Given the description of an element on the screen output the (x, y) to click on. 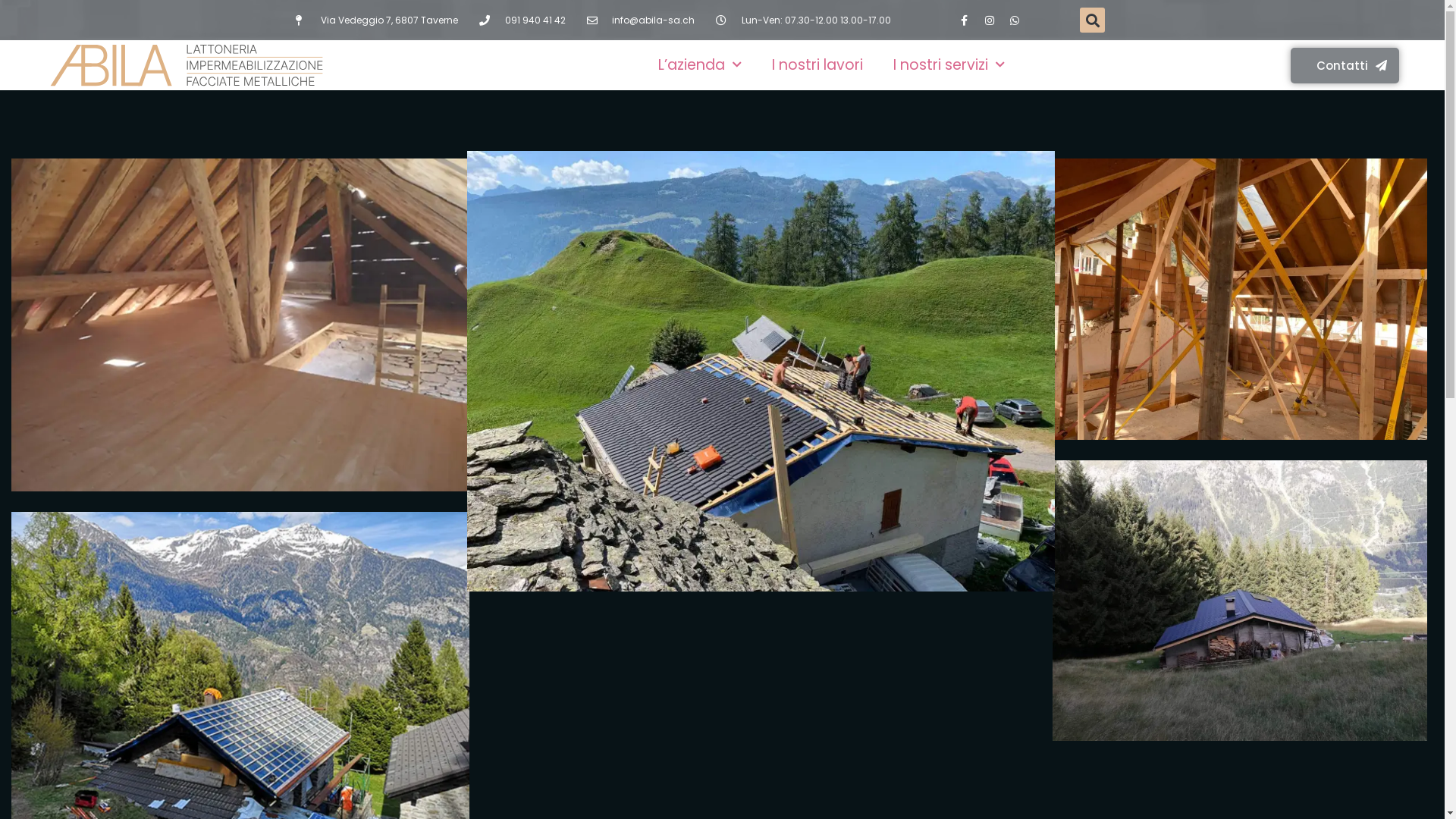
I nostri lavori Element type: text (817, 64)
Contatti Element type: text (1344, 64)
I nostri servizi Element type: text (948, 64)
info@abila-sa.ch Element type: text (640, 20)
